Given the description of an element on the screen output the (x, y) to click on. 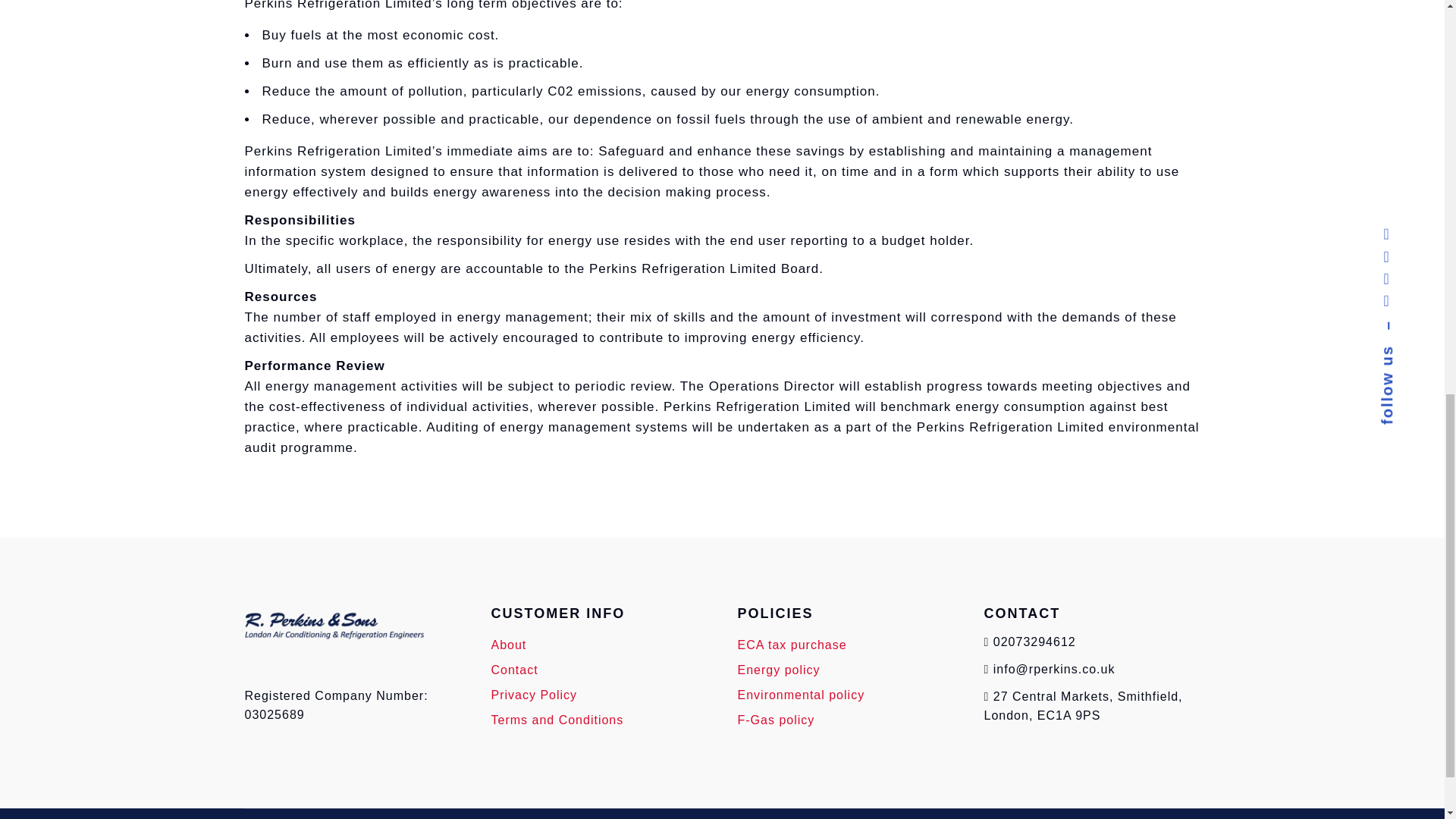
Contact (515, 669)
Terms and Conditions (558, 719)
02073294612 (1033, 641)
ECA tax purchase (790, 644)
Energy policy (777, 669)
F-Gas policy (774, 719)
About (509, 644)
Environmental policy (800, 694)
Privacy Policy (535, 694)
